Given the description of an element on the screen output the (x, y) to click on. 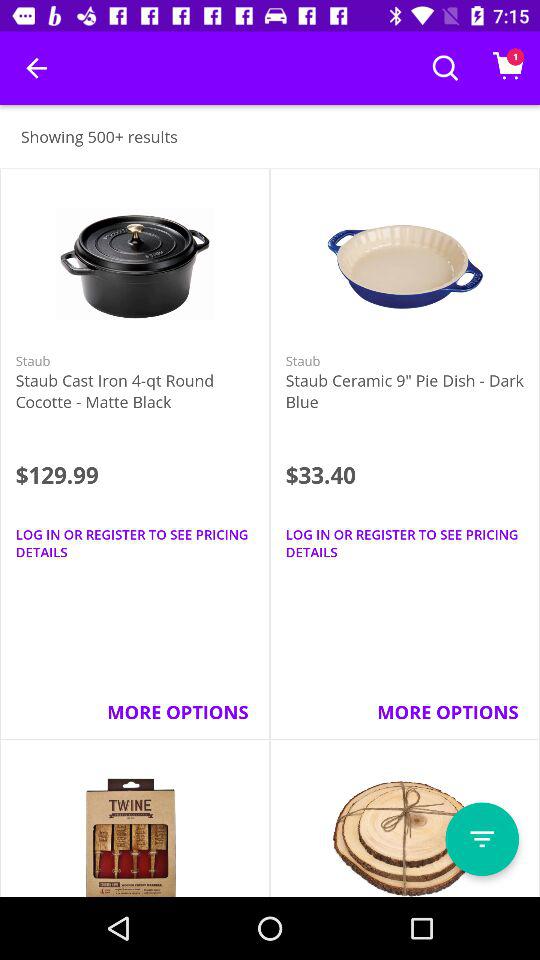
adjust the informations page (482, 839)
